Given the description of an element on the screen output the (x, y) to click on. 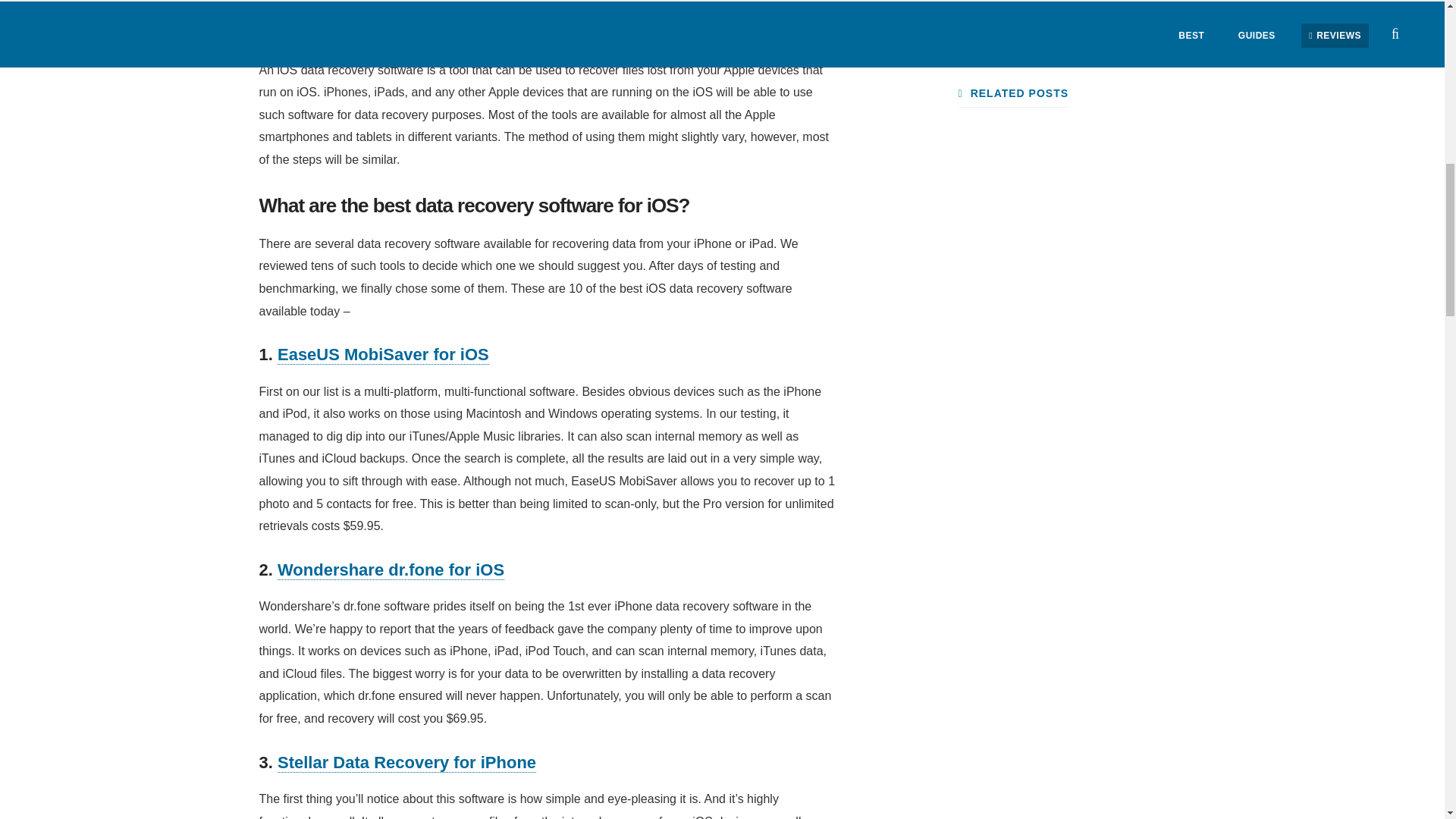
EaseUS MobiSaver for iOS (383, 354)
Wondershare dr.fone for iOS (390, 569)
Stellar Data Recovery for iPhone (406, 762)
